Given the description of an element on the screen output the (x, y) to click on. 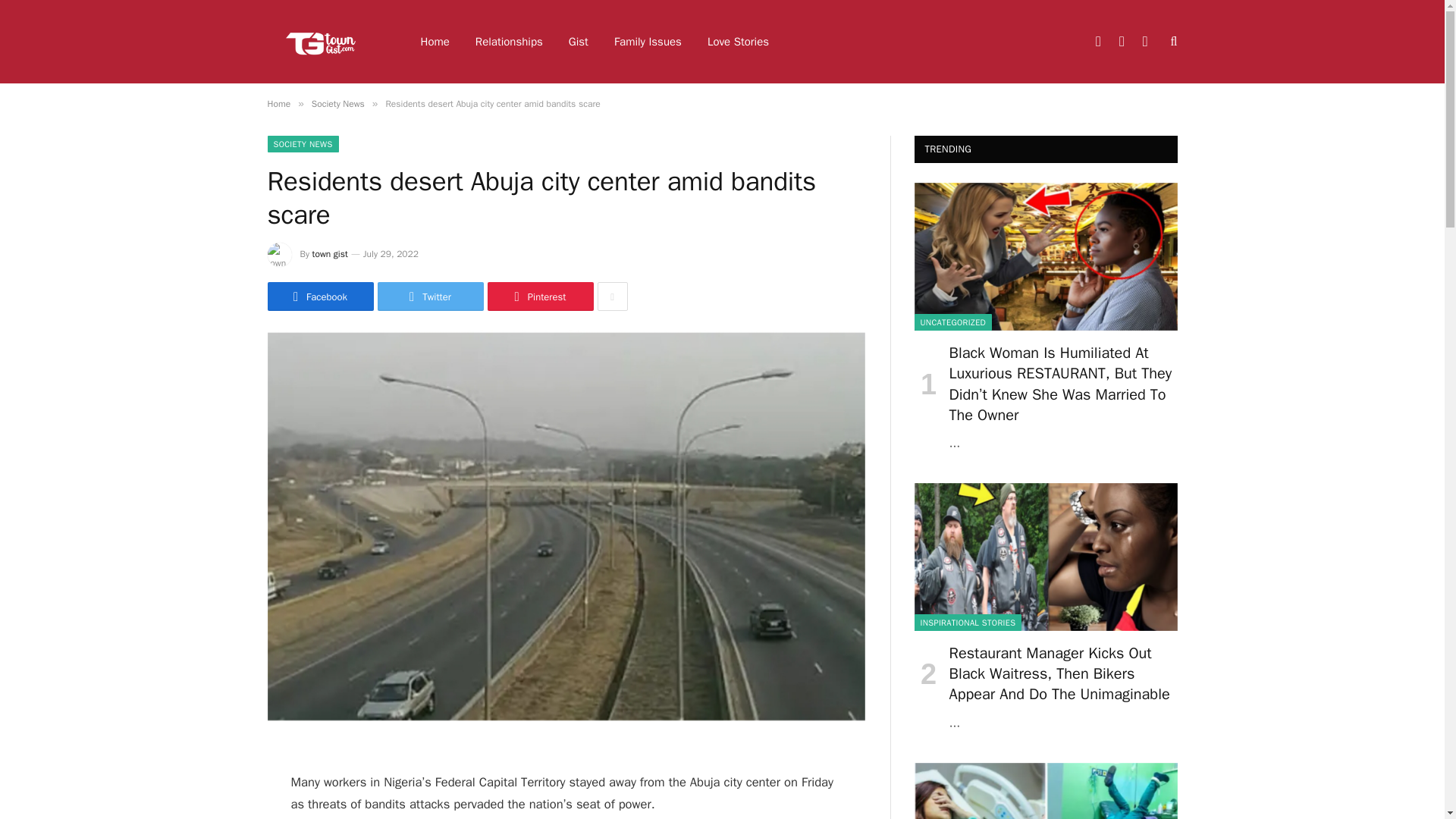
Facebook (319, 296)
Gist (578, 41)
SOCIETY NEWS (301, 143)
Share on Pinterest (539, 296)
Society News (338, 103)
Instagram (1145, 41)
Love Stories (737, 41)
Show More Social Sharing (611, 296)
Twitter (430, 296)
Home (277, 103)
Home (435, 41)
Pinterest (539, 296)
Relationships (509, 41)
town gist (330, 254)
